Given the description of an element on the screen output the (x, y) to click on. 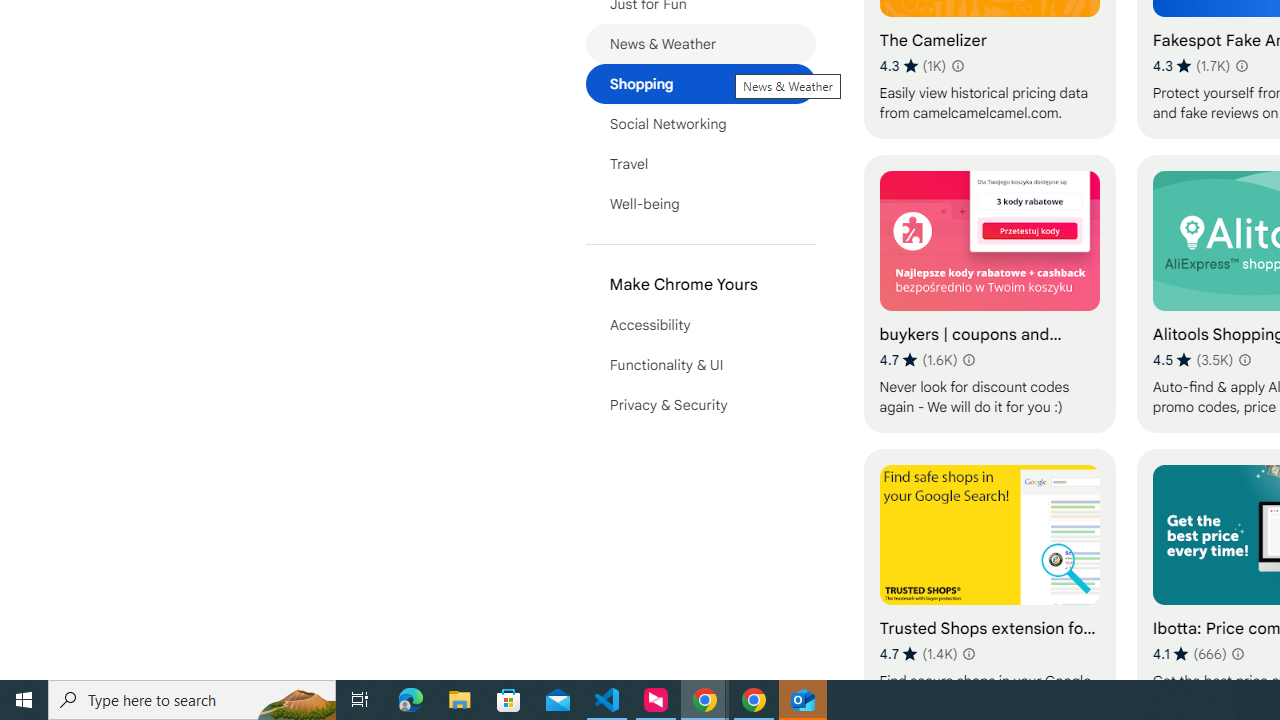
Social Networking (700, 123)
News & Weather (700, 43)
Average rating 4.5 out of 5 stars. 3.5K ratings. (1192, 359)
Well-being (700, 203)
Learn more about results and reviews "The Camelizer" (957, 65)
Accessibility (700, 324)
buykers | coupons and discount codes (989, 293)
Average rating 4.3 out of 5 stars. 1K ratings. (913, 66)
Privacy & Security (700, 404)
Functionality & UI (700, 364)
Travel (700, 164)
